Given the description of an element on the screen output the (x, y) to click on. 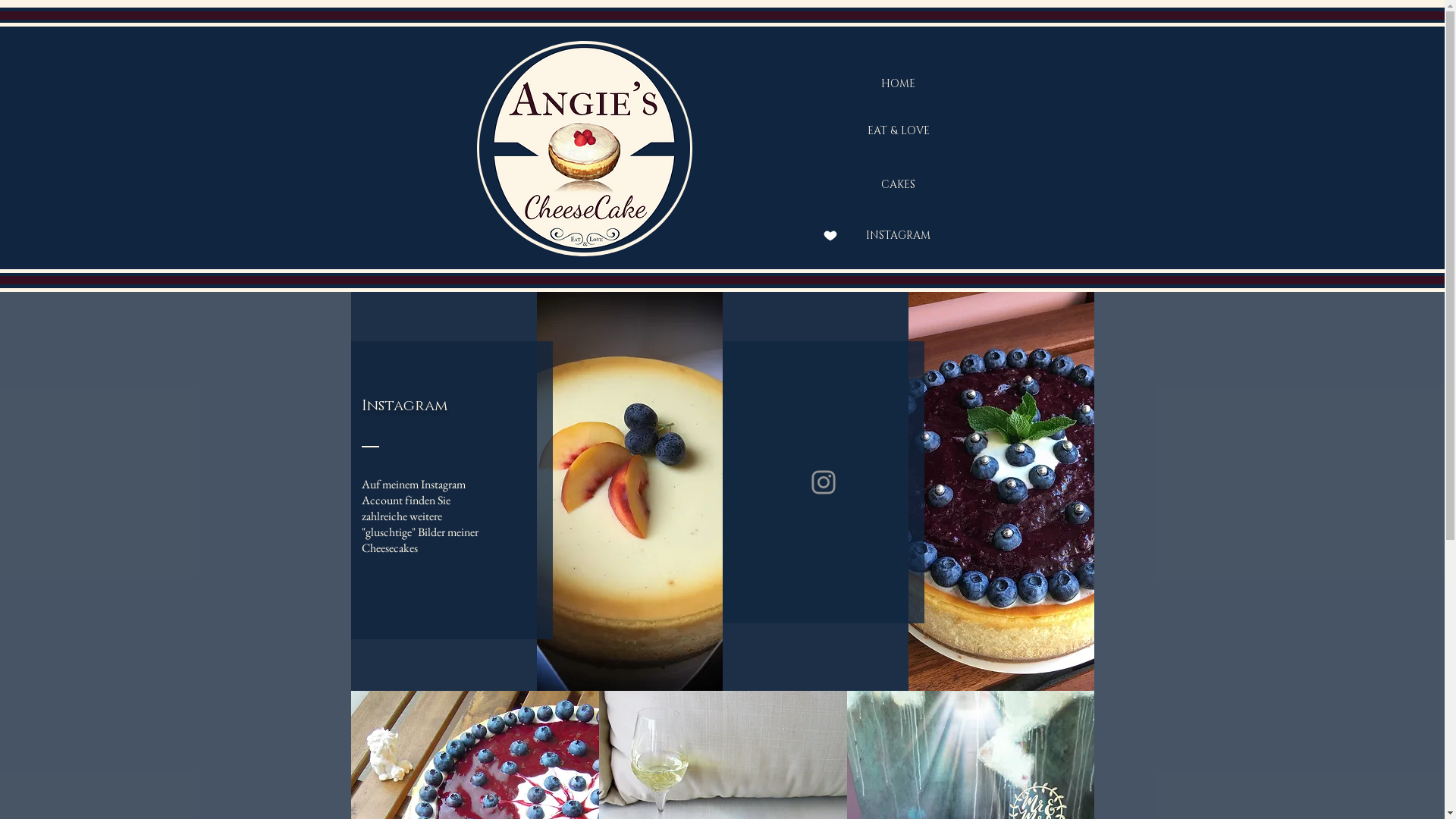
INSTAGRAM Element type: text (897, 235)
CAKES Element type: text (897, 184)
EAT & LOVE Element type: text (897, 130)
HOME Element type: text (897, 83)
